Given the description of an element on the screen output the (x, y) to click on. 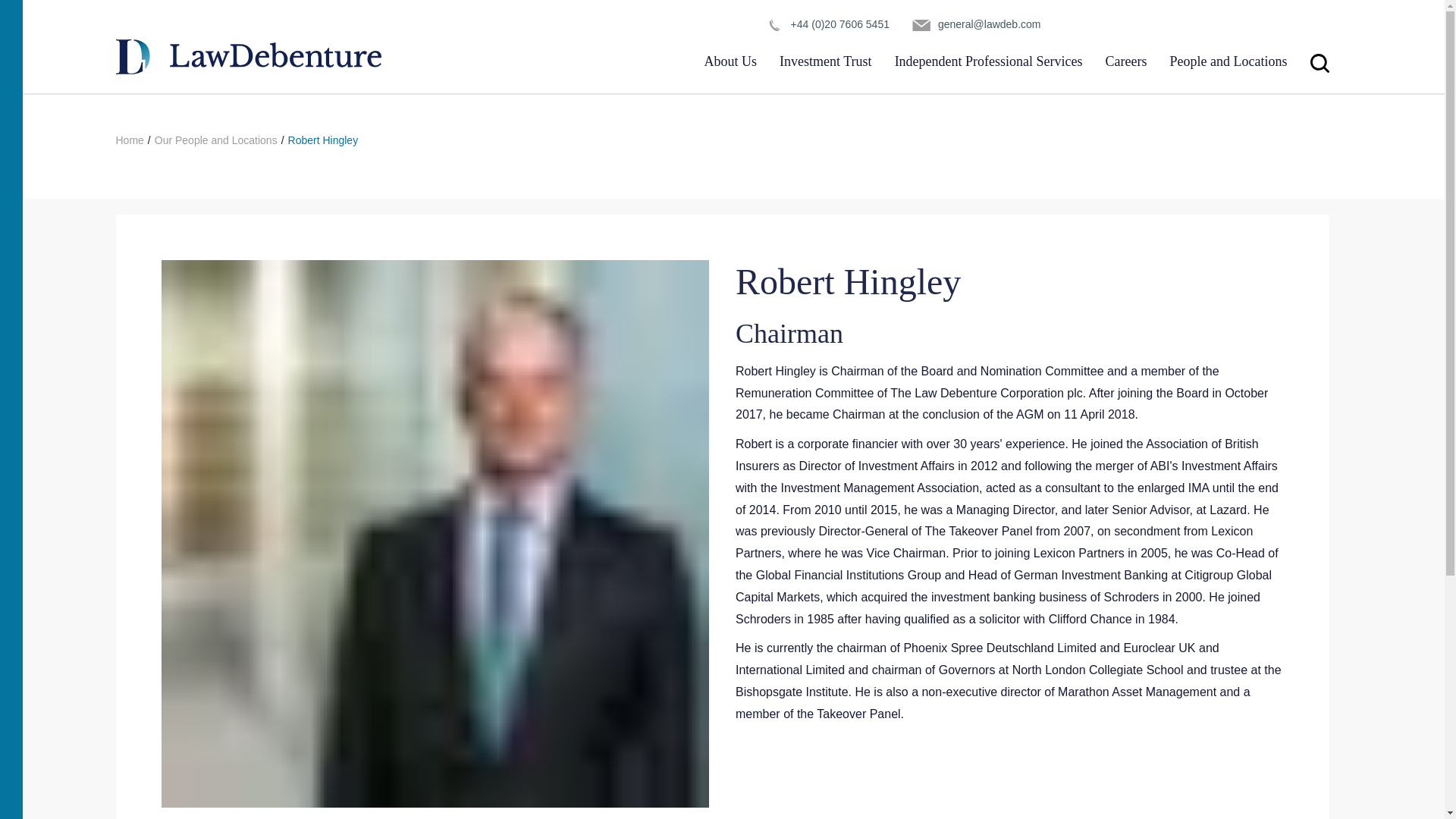
About Us (730, 61)
Investment Trust (825, 61)
Independent Professional Services (989, 61)
